Given the description of an element on the screen output the (x, y) to click on. 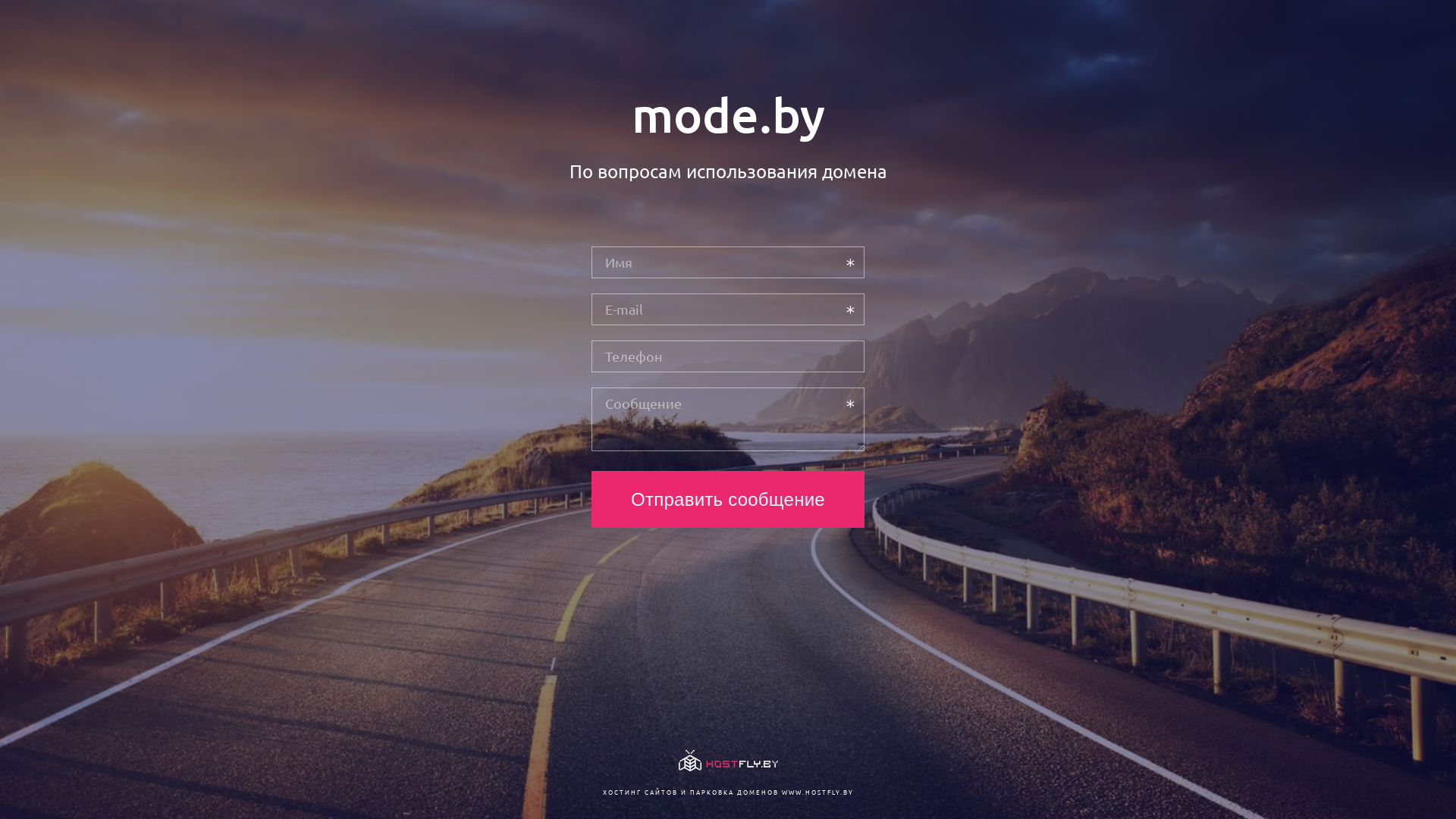
WWW.HOSTFLY.BY Element type: text (817, 791)
